Given the description of an element on the screen output the (x, y) to click on. 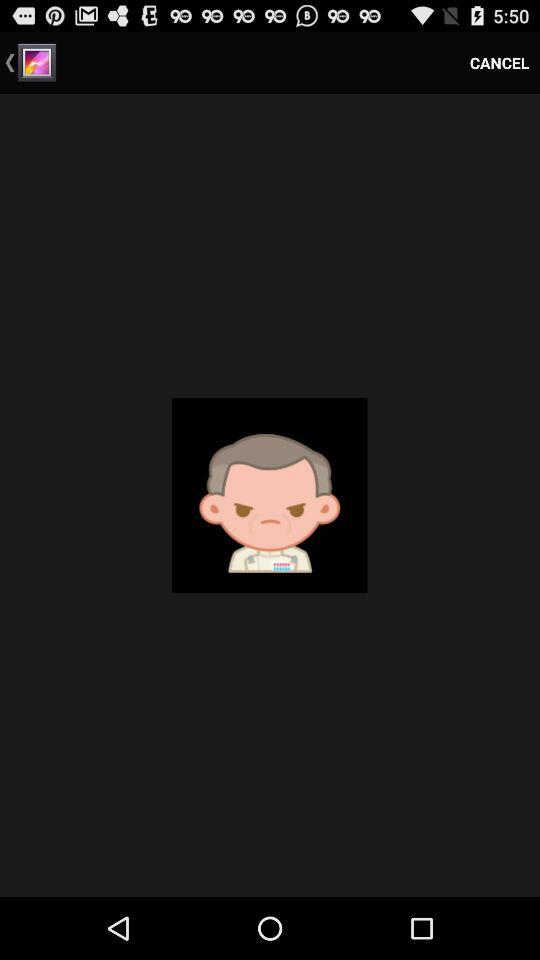
click cancel item (499, 62)
